Given the description of an element on the screen output the (x, y) to click on. 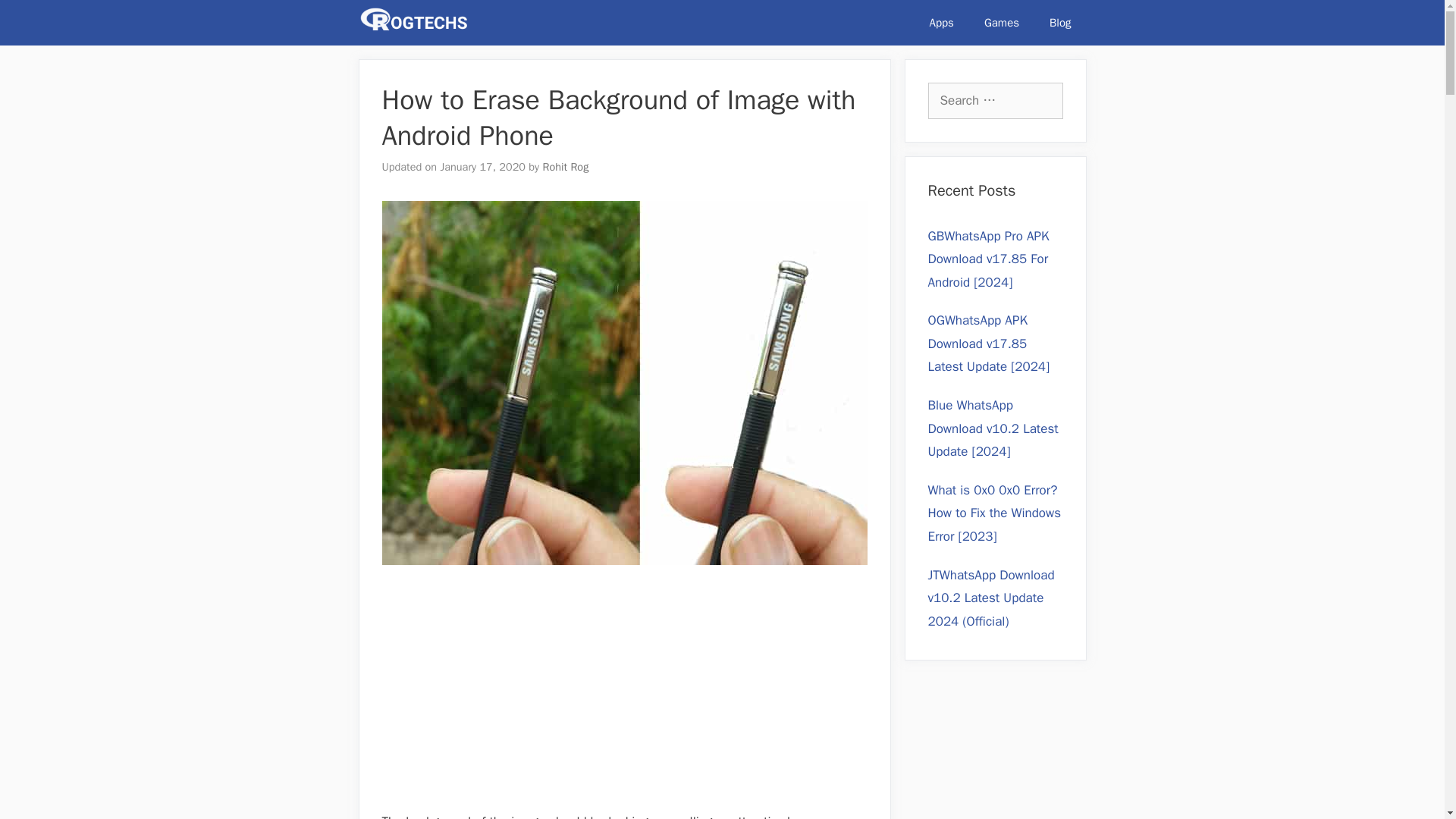
Rohit Rog (566, 166)
View all posts by Rohit Rog (566, 166)
Blog (1059, 22)
Rogtechs (417, 22)
Apps (941, 22)
Search (33, 17)
Rogtechs (413, 22)
Search for: (995, 100)
Games (1001, 22)
